Given the description of an element on the screen output the (x, y) to click on. 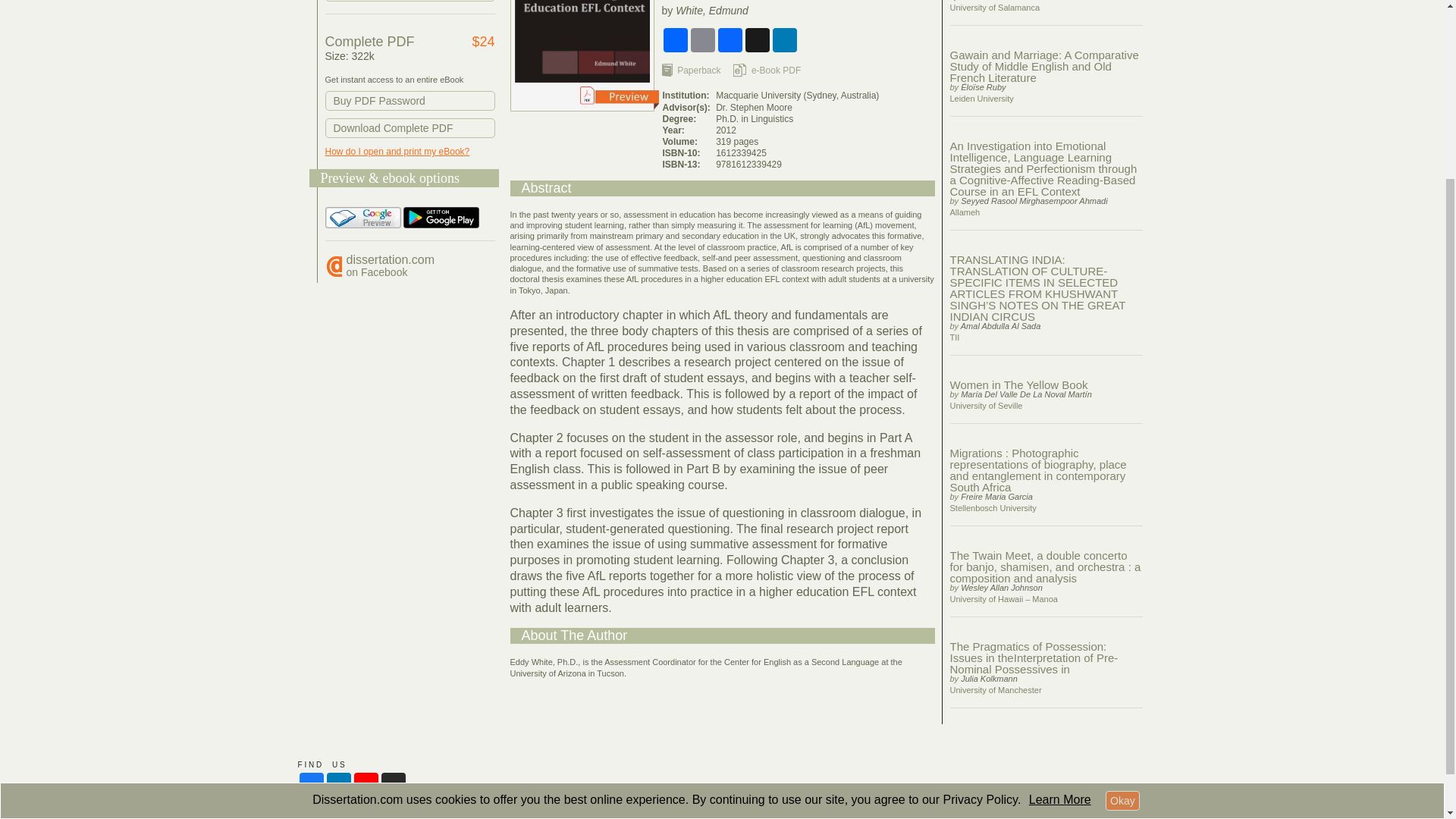
Email (702, 39)
Okay (389, 265)
Buy PDF Password (1122, 569)
Share (409, 100)
Download Complete PDF (674, 39)
Download 25-page Preview (409, 127)
How do I open and print my eBook? (1059, 567)
